Given the description of an element on the screen output the (x, y) to click on. 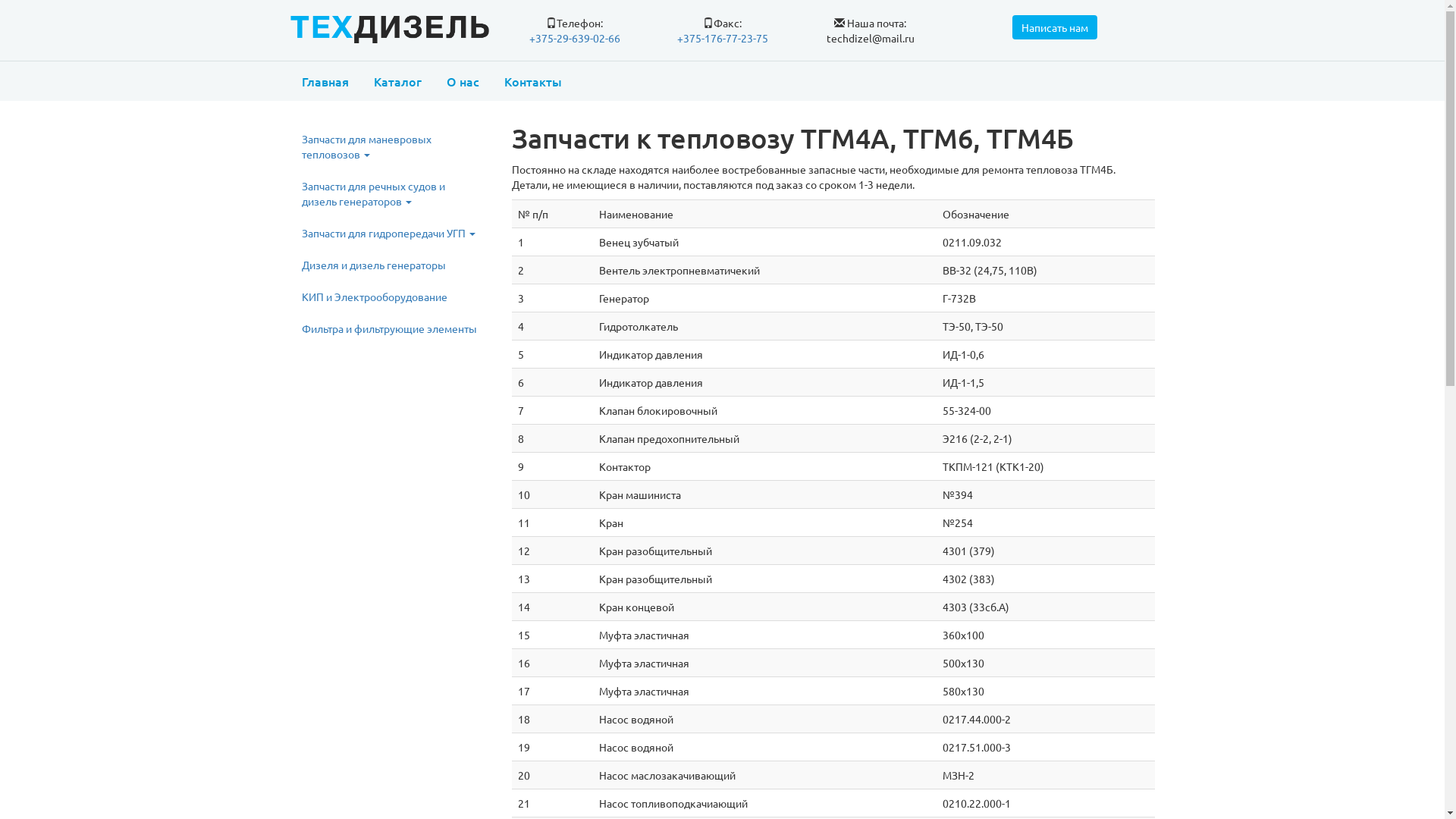
+375-176-77-23-75 Element type: text (721, 37)
+375-29-639-02-66 Element type: text (574, 37)
